Given the description of an element on the screen output the (x, y) to click on. 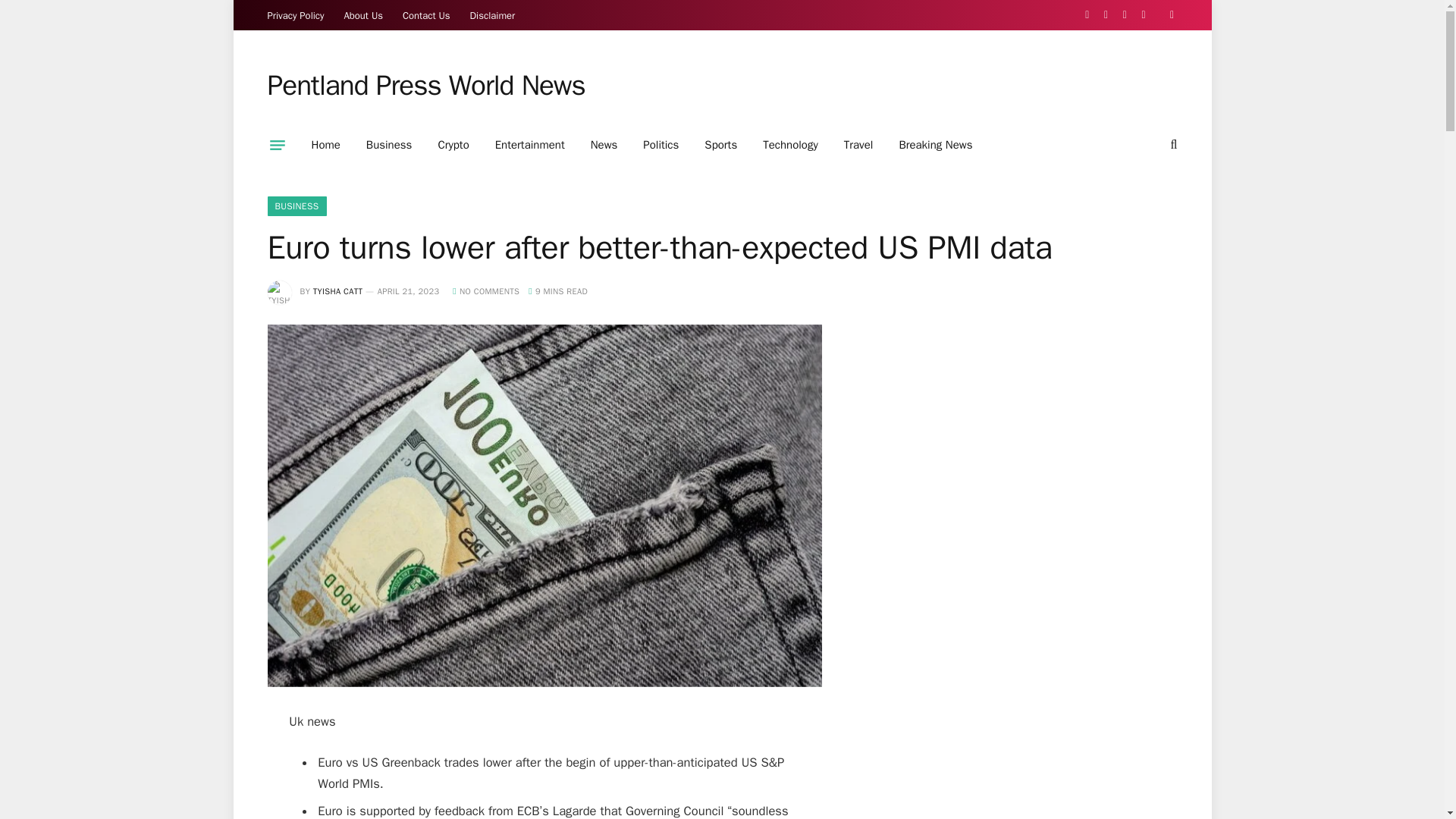
TYISHA CATT (337, 290)
About Us (363, 15)
Home (325, 144)
Disclaimer (492, 15)
Pentland Press World News (425, 85)
Business (389, 144)
Contact Us (426, 15)
Travel (858, 144)
Breaking News (935, 144)
Posts by Tyisha Catt (337, 290)
